Given the description of an element on the screen output the (x, y) to click on. 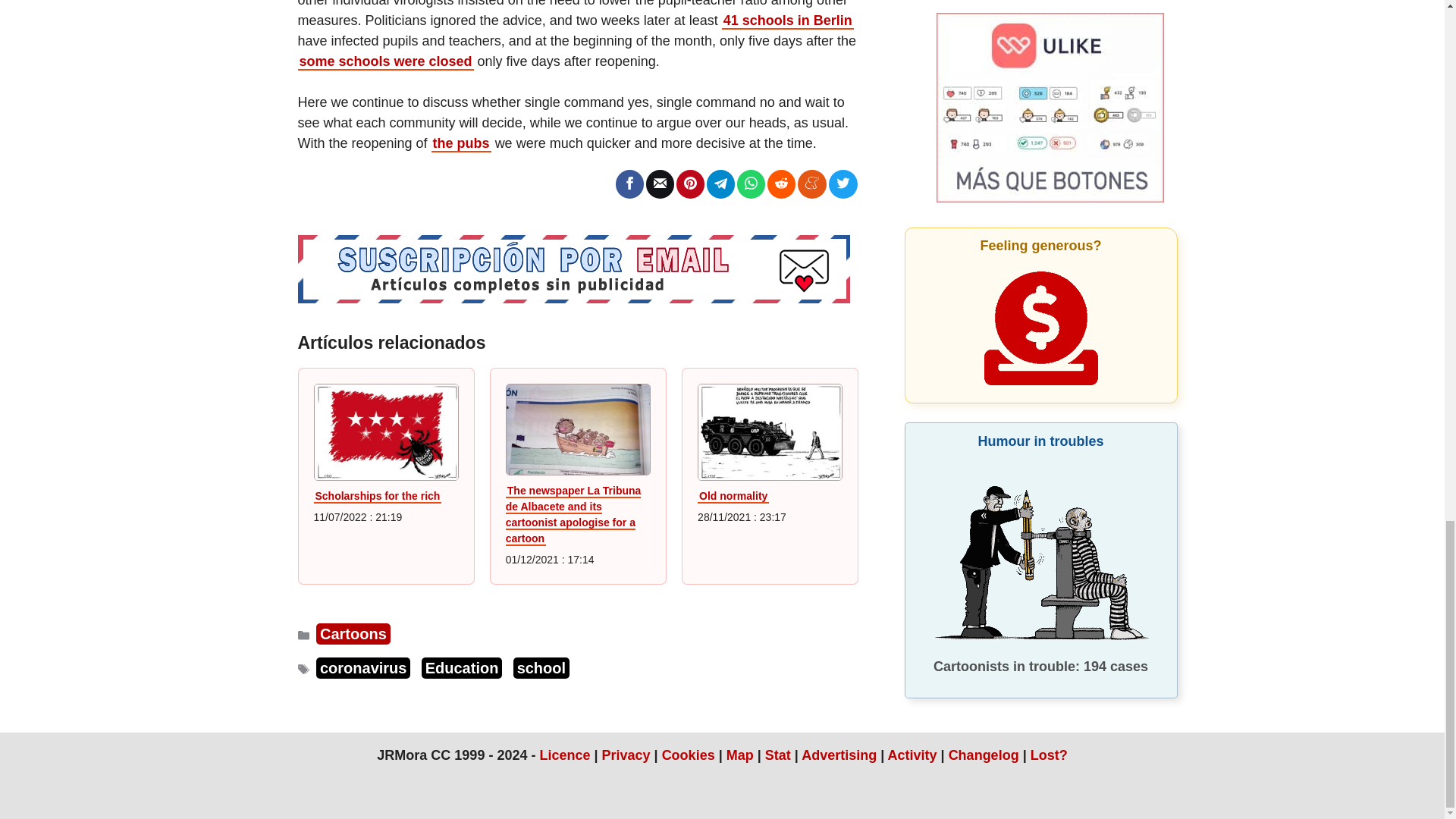
Reddit (780, 182)
Telegram (720, 182)
